Given the description of an element on the screen output the (x, y) to click on. 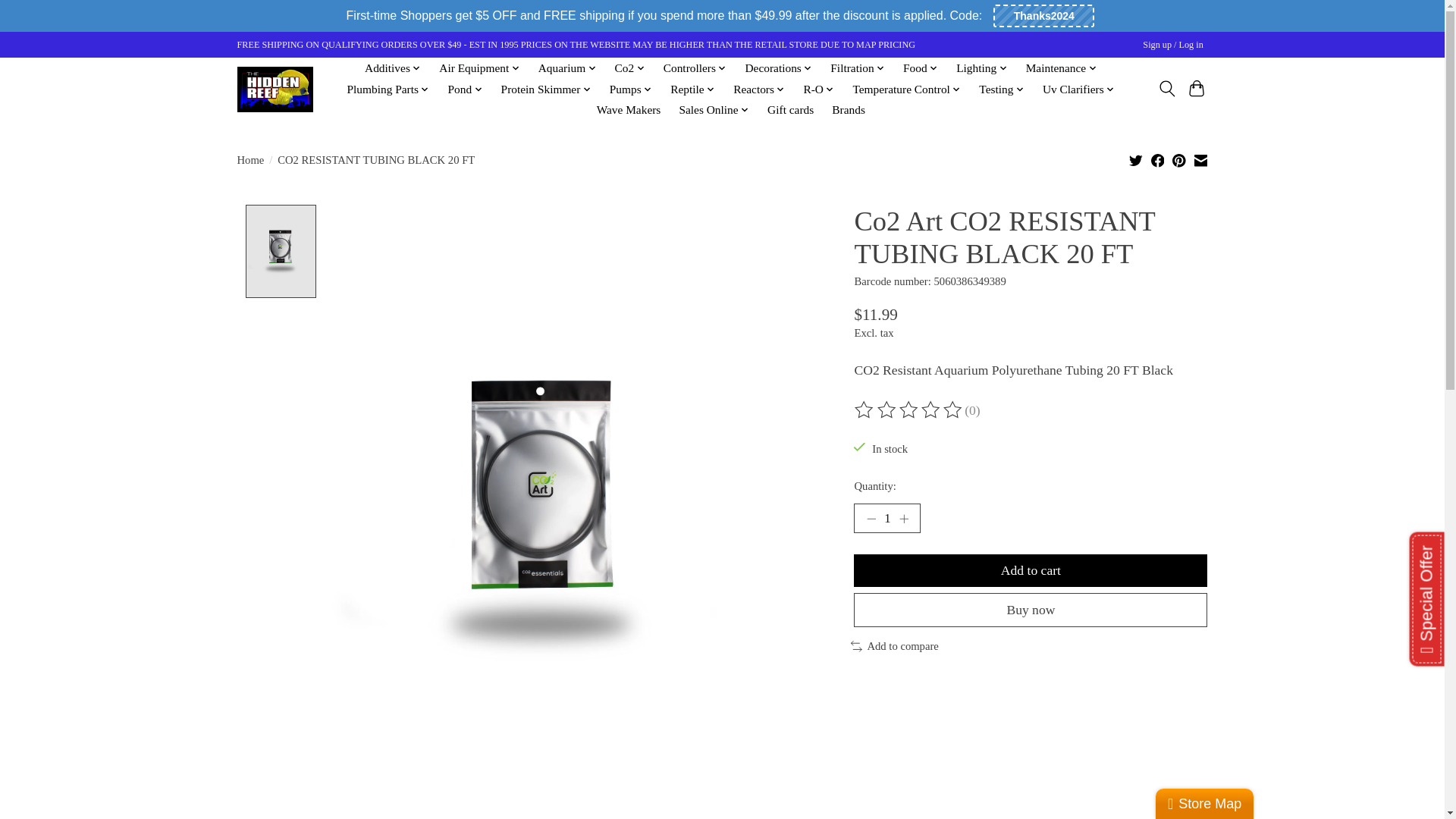
Air Equipment (479, 67)
Thanks2024 (1043, 15)
The Hidden Reef, Inc (274, 89)
My account (1173, 45)
Additives (392, 67)
1 (886, 518)
